Given the description of an element on the screen output the (x, y) to click on. 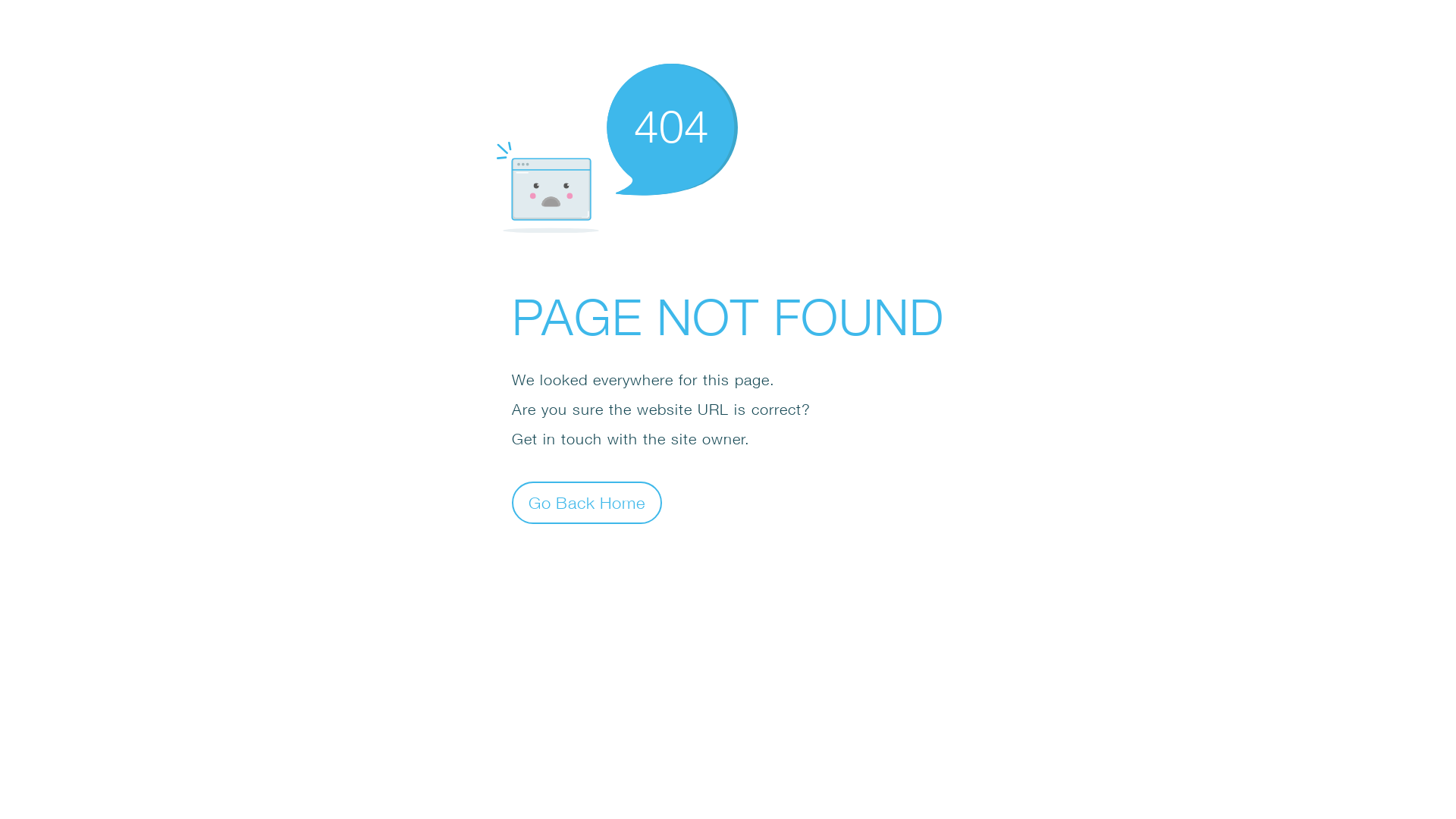
Go Back Home Element type: text (586, 502)
